Given the description of an element on the screen output the (x, y) to click on. 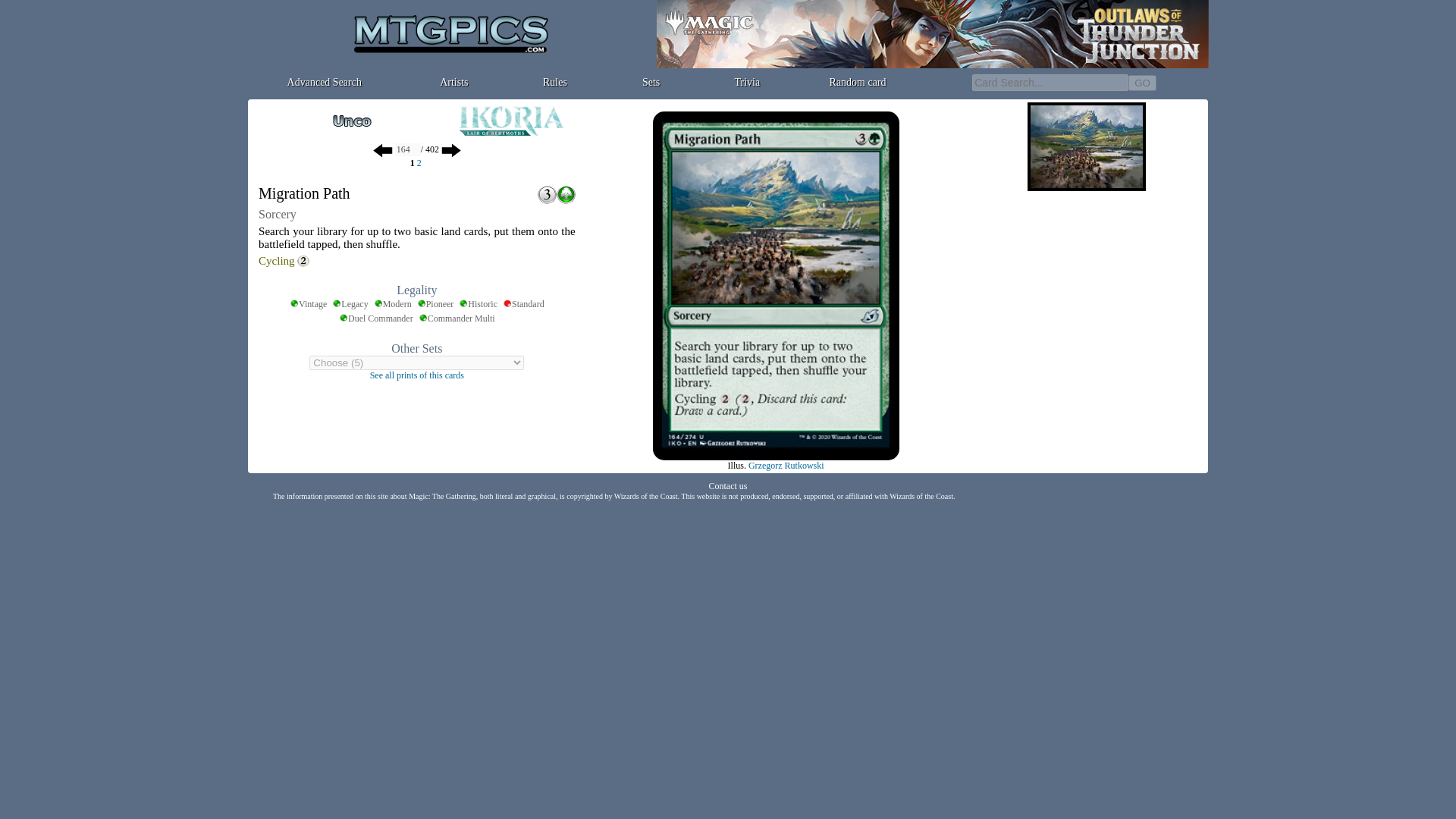
Legal in Legacy (349, 304)
Legal in Duel Commander (376, 318)
GO (1142, 82)
Advanced Search (323, 81)
Banned in Standard (523, 304)
Artists (453, 81)
Sets (650, 81)
Trivia (746, 81)
Legal in Multiplayer Commander (457, 318)
Grzegorz Rutkowski (786, 465)
Legal in Modern (393, 304)
Contact us (726, 485)
Rules (555, 81)
GO (1142, 82)
Legal in Historic (477, 304)
